Given the description of an element on the screen output the (x, y) to click on. 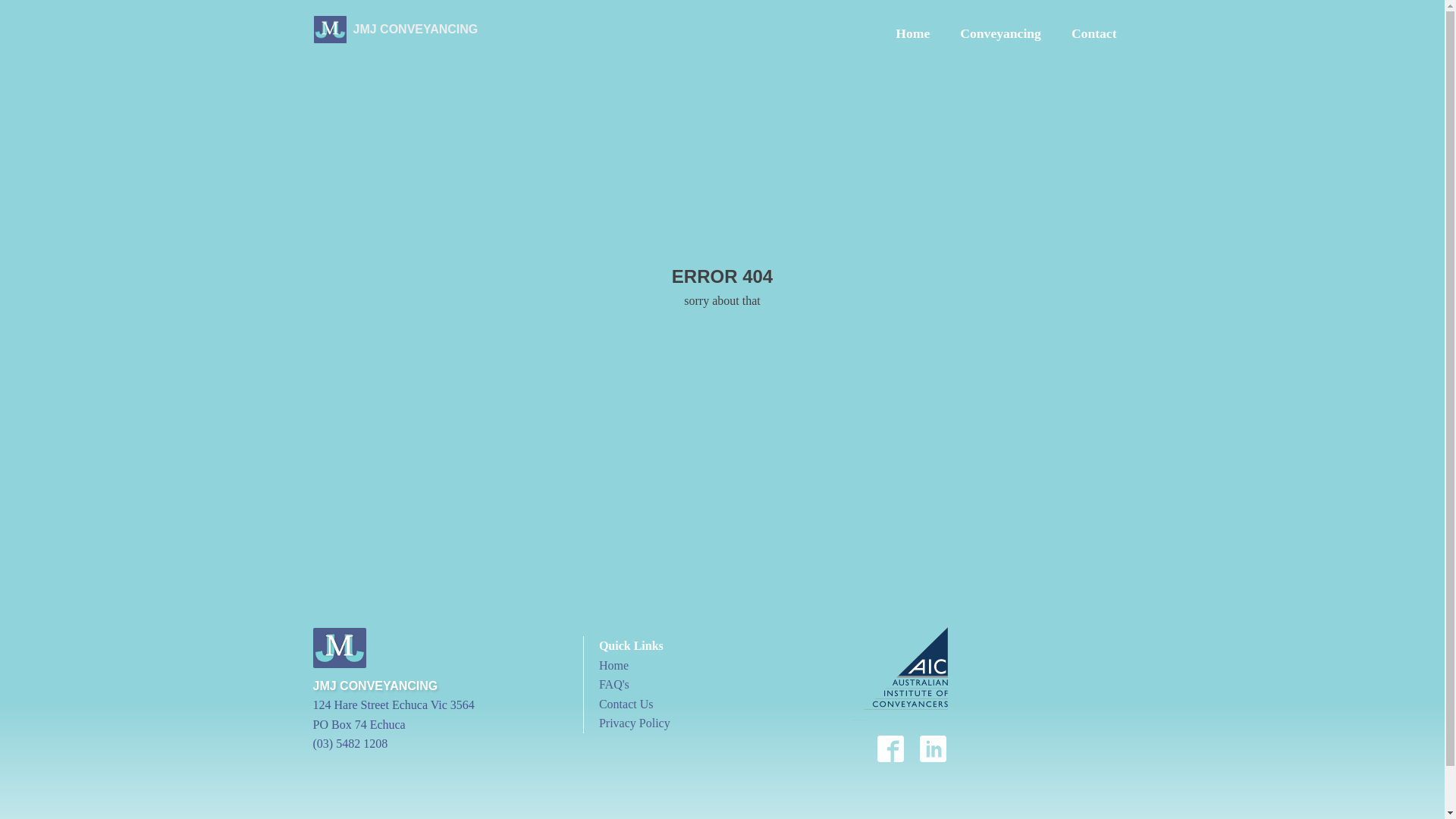
Contact Element type: text (1094, 29)
JMJ CONVEYANCING Element type: text (394, 29)
Home Element type: text (912, 29)
Conveyancing Element type: text (1000, 29)
Home Element type: text (613, 664)
Contact Us Element type: text (626, 703)
Privacy Policy Element type: text (634, 722)
FAQ's Element type: text (614, 683)
